Given the description of an element on the screen output the (x, y) to click on. 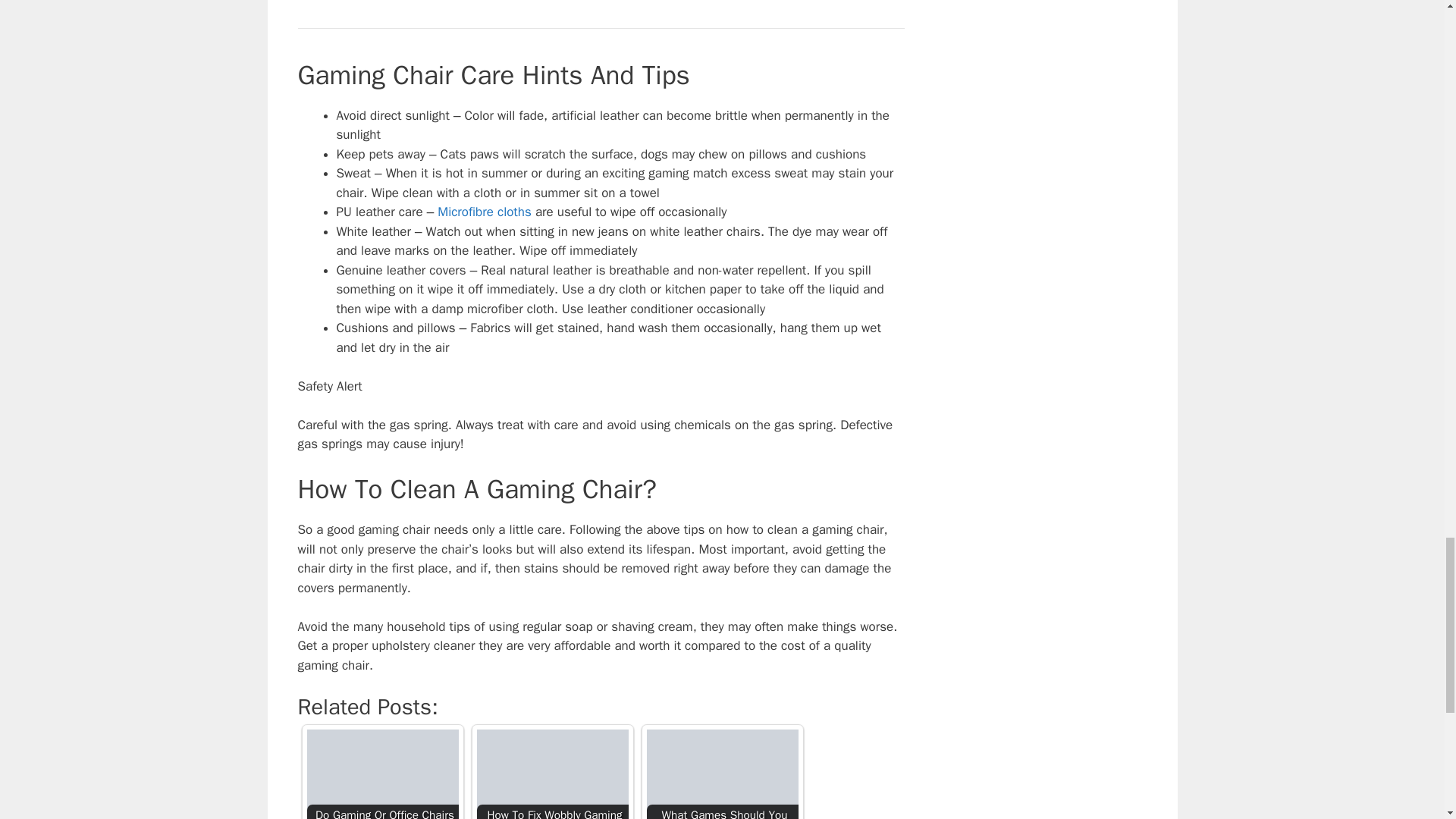
Microfibre cloths (484, 211)
How To Fix Wobbly Gaming Chair (551, 774)
What Games Should You Stream on Twitch? (721, 774)
How To Fix Wobbly Gaming Chair (551, 774)
What Games Should You Stream on Twitch? (721, 774)
